Given the description of an element on the screen output the (x, y) to click on. 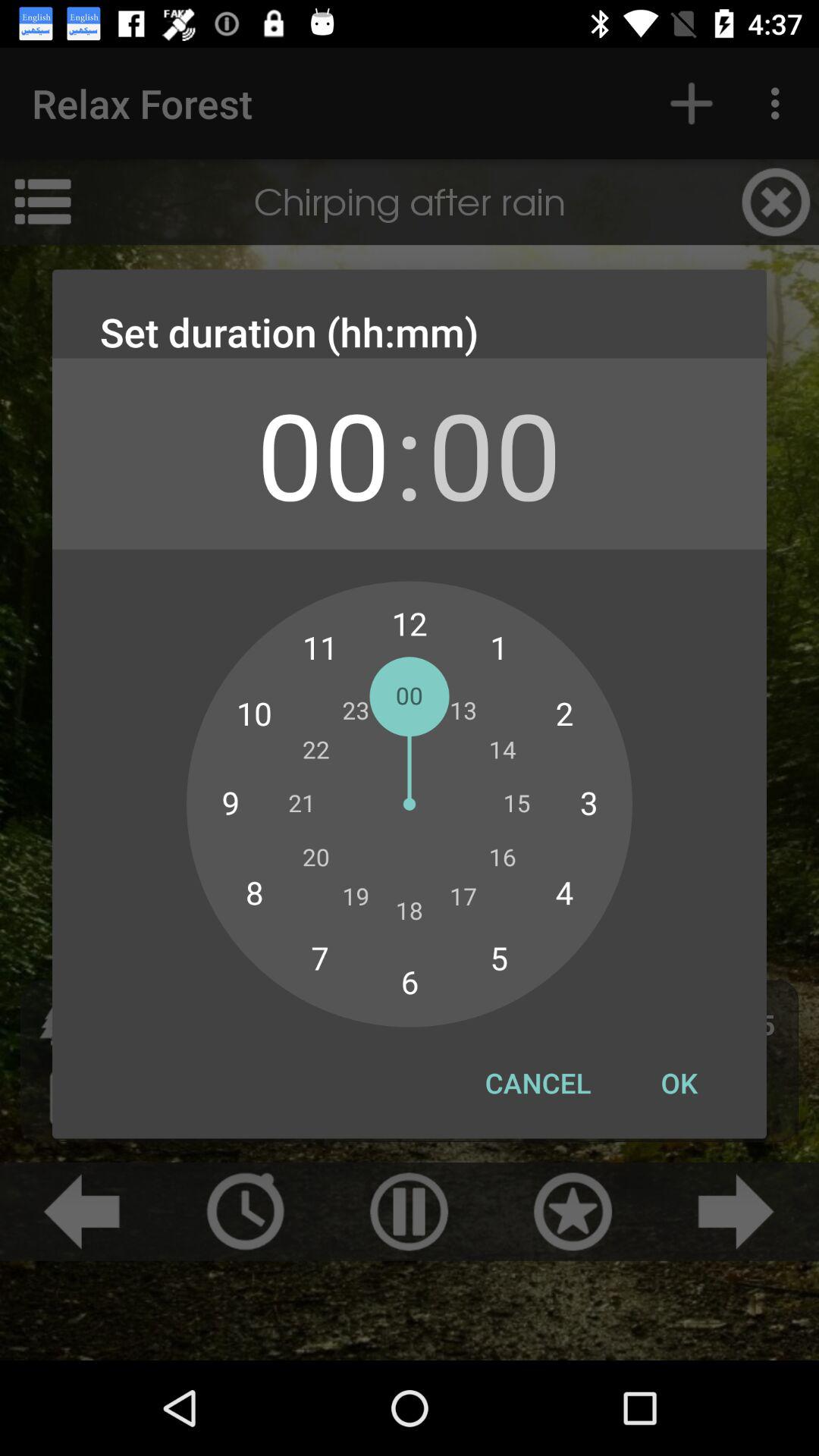
open the item at the bottom right corner (678, 1082)
